Given the description of an element on the screen output the (x, y) to click on. 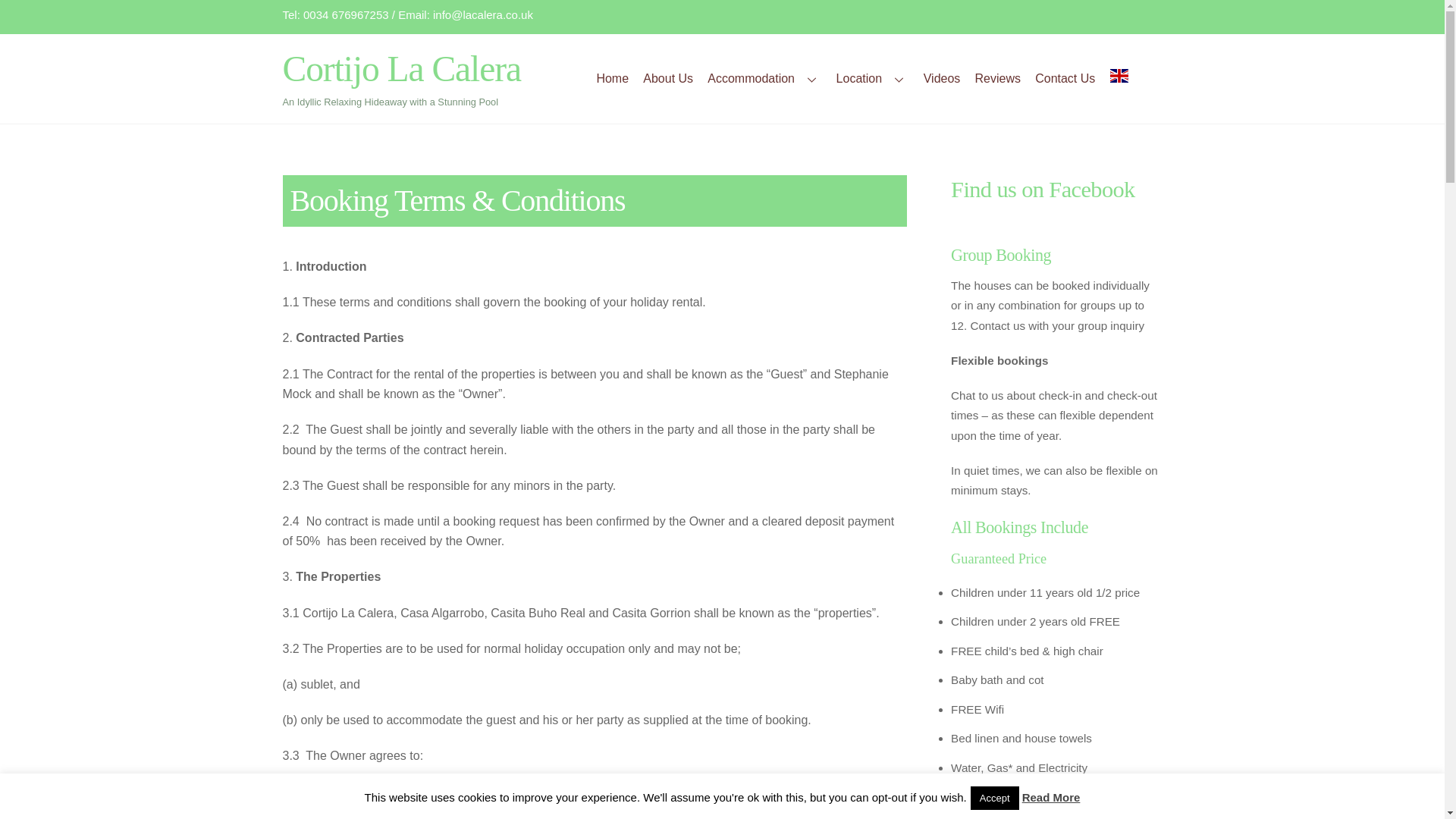
Read More (1051, 797)
Find us on Facebook (1042, 189)
Cortijo La Calera (401, 68)
Cortijo La Calera (401, 68)
English (1131, 79)
Home (612, 79)
Videos (941, 79)
Accommodation (764, 79)
About Us (668, 79)
Reviews (997, 79)
Accept (995, 797)
Contact Us (1064, 79)
Location (871, 79)
